Given the description of an element on the screen output the (x, y) to click on. 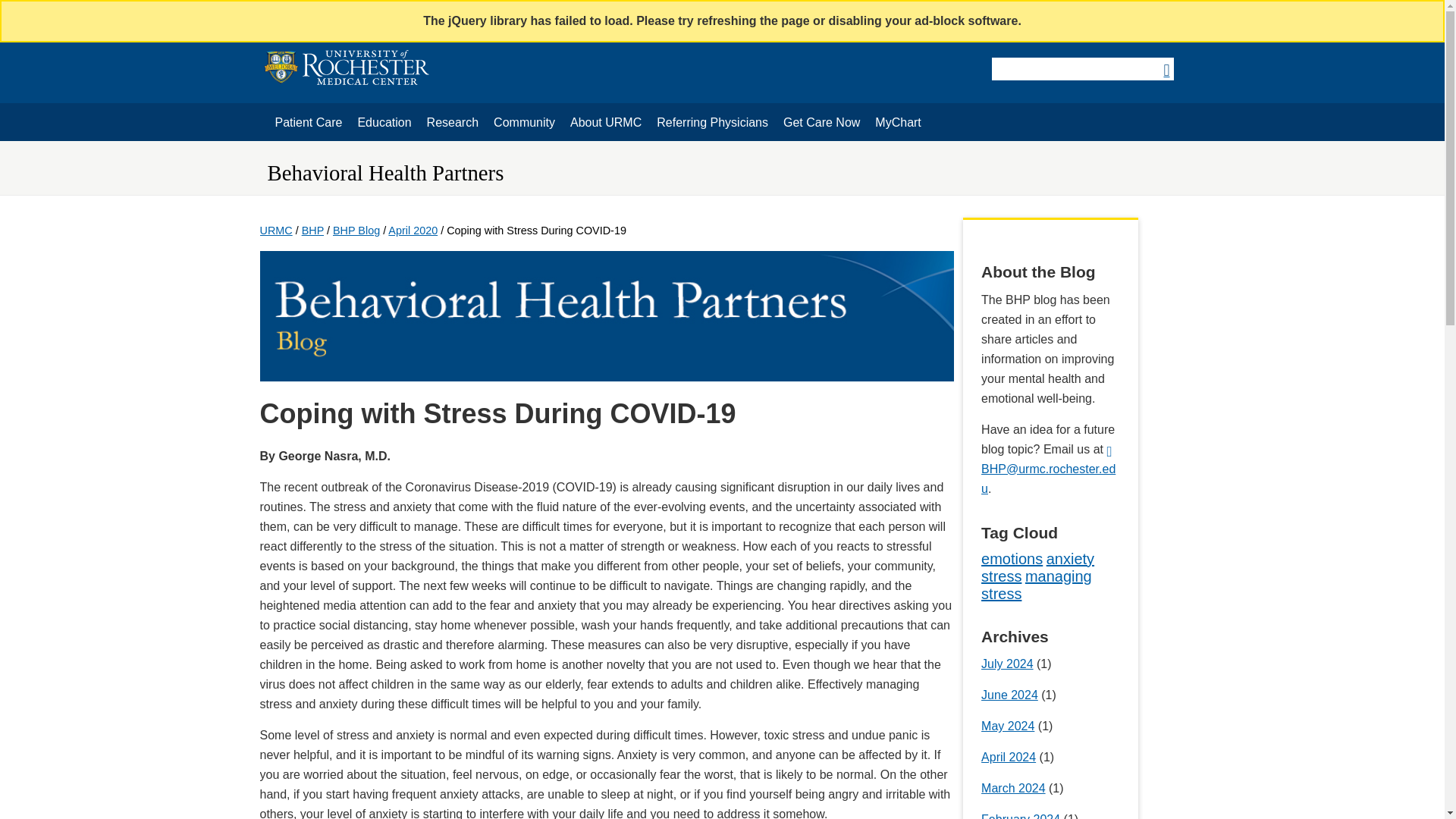
Patient Care (307, 122)
Section: Behavioral Health Partners (384, 173)
Search URMC (1080, 68)
Education (384, 122)
Community (452, 122)
